Given the description of an element on the screen output the (x, y) to click on. 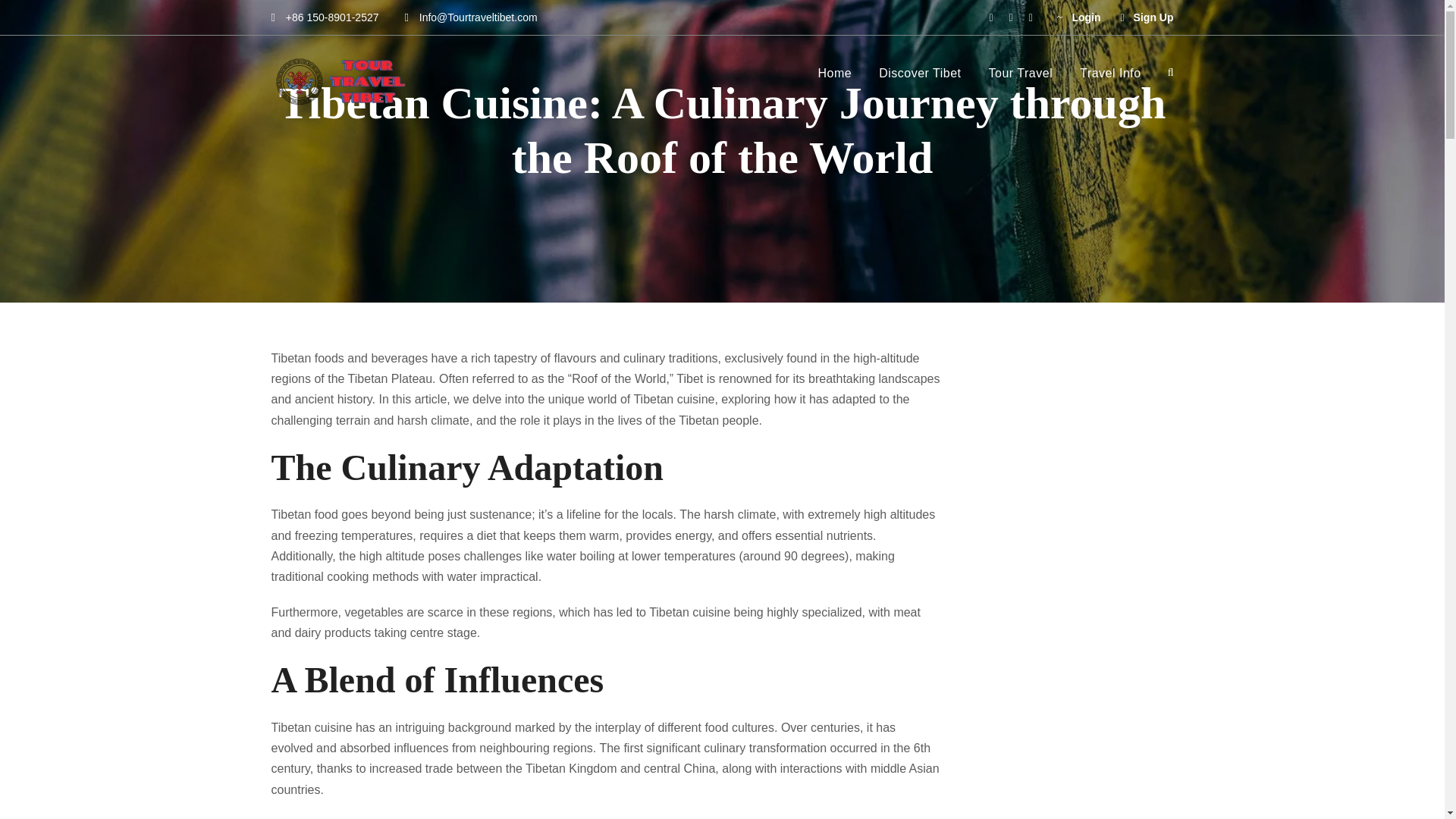
Discover Tibet (919, 80)
twitter (1030, 17)
New Logo (341, 81)
facebook (990, 17)
pinterest (1011, 17)
Home (833, 80)
